Given the description of an element on the screen output the (x, y) to click on. 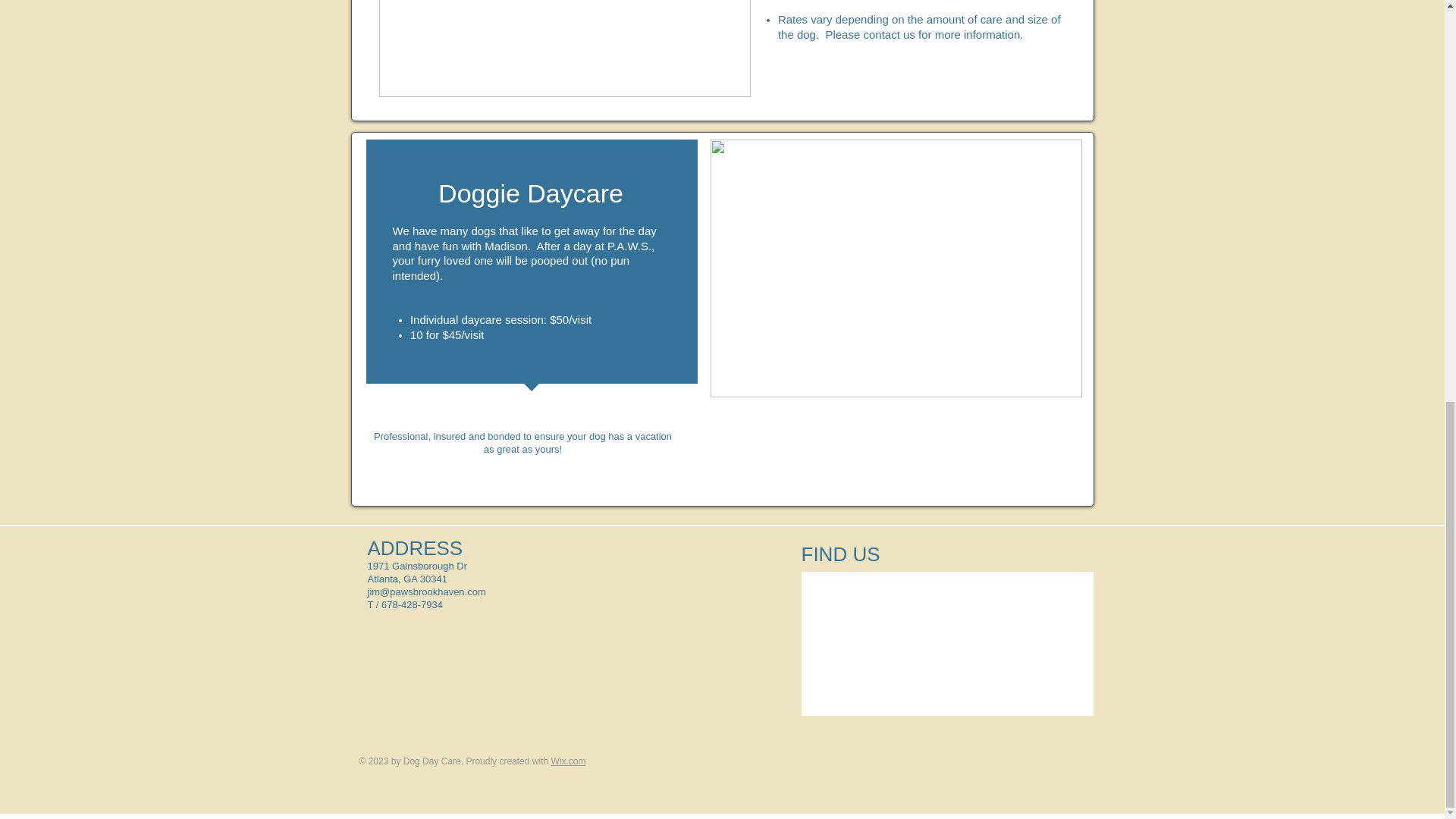
2014-10-21 16.45.12.jpg (564, 48)
Wix.com (567, 760)
2014-09-26 14.30.08.jpg (895, 268)
